Given the description of an element on the screen output the (x, y) to click on. 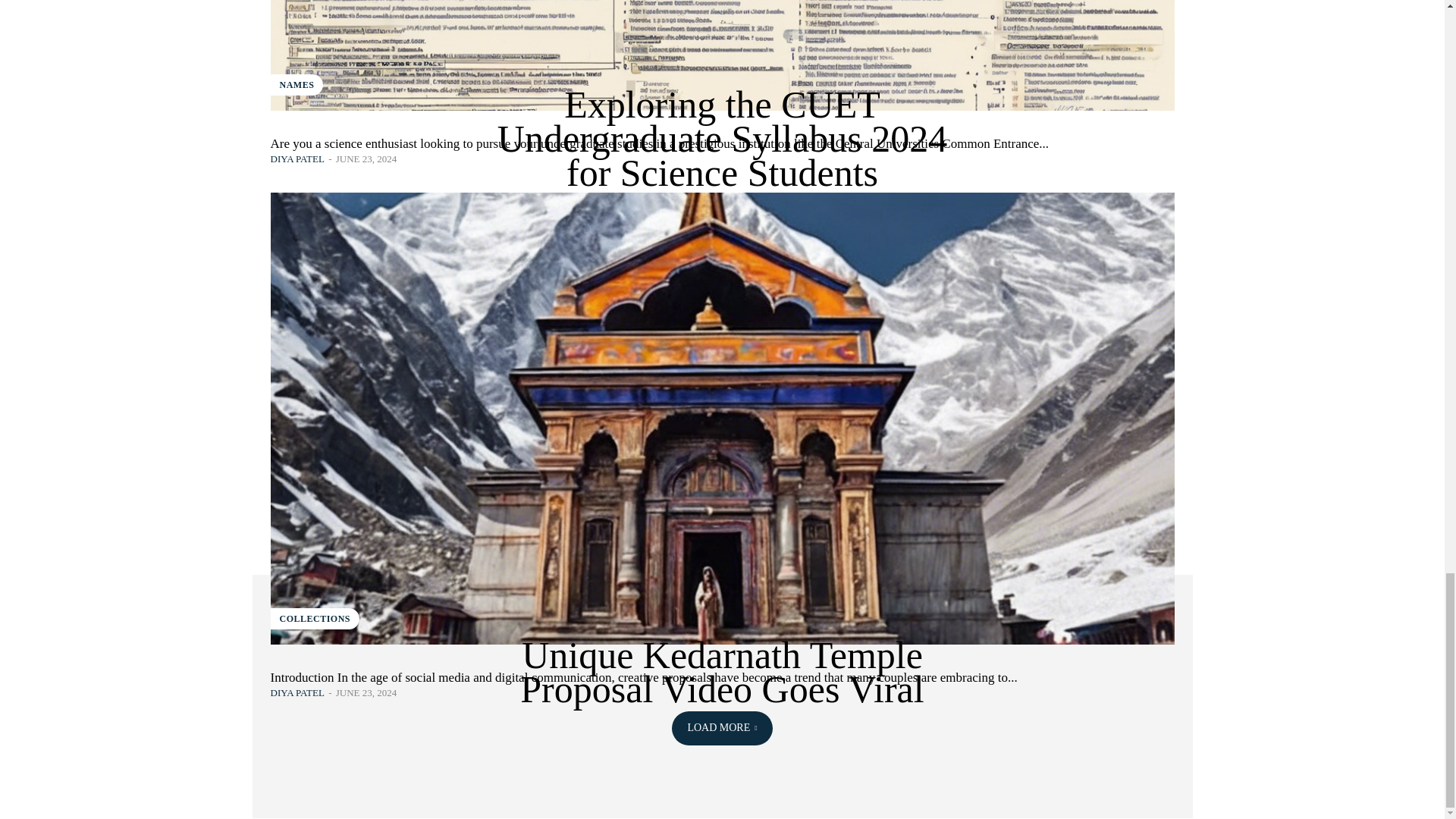
Unique Kedarnath Temple Proposal Video Goes Viral (721, 671)
